Given the description of an element on the screen output the (x, y) to click on. 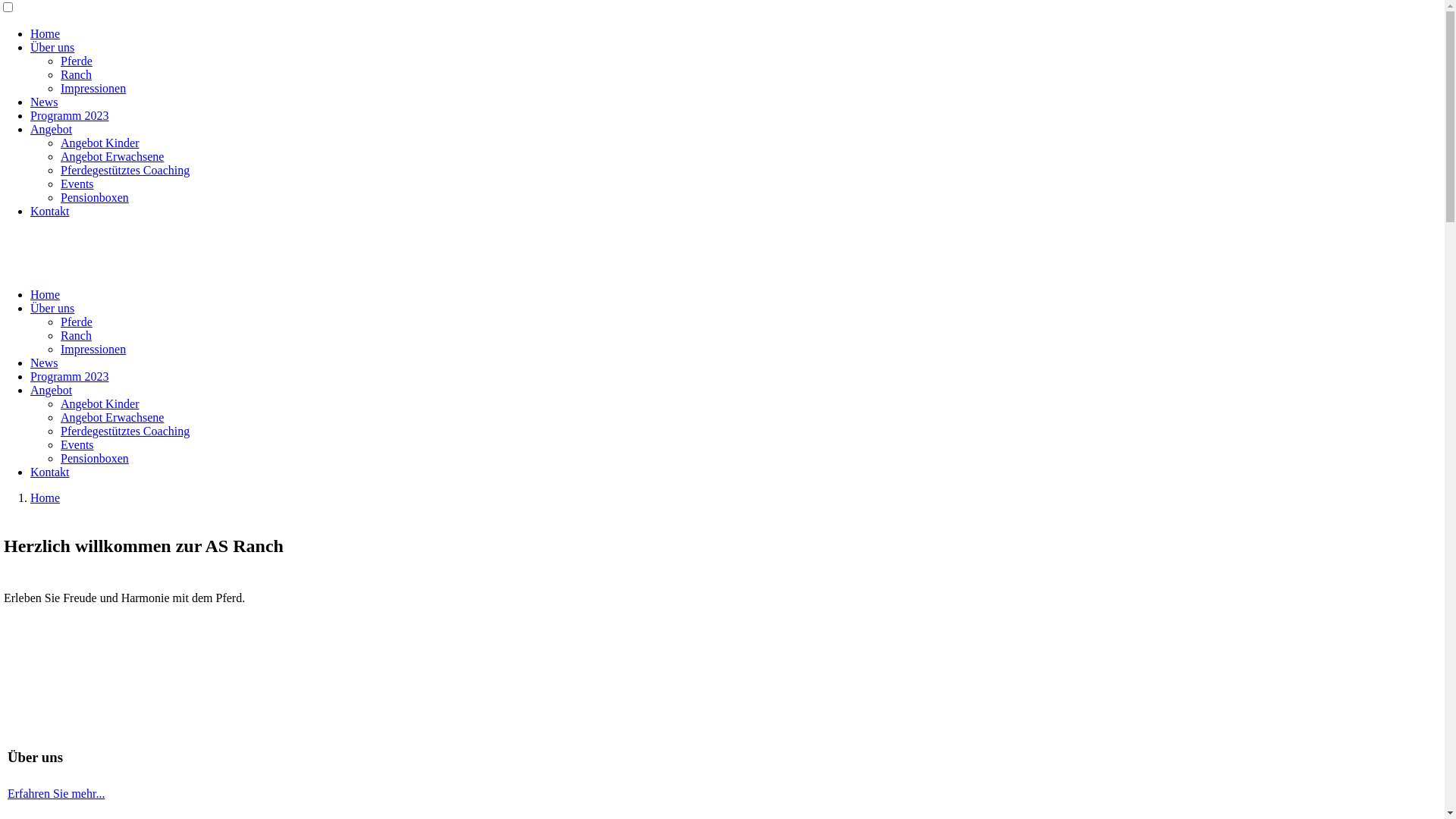
Home Element type: text (44, 497)
Pensionboxen Element type: text (94, 457)
Programm 2023 Element type: text (69, 376)
Events Element type: text (77, 444)
Angebot Kinder Element type: text (99, 403)
Angebot Element type: text (51, 128)
Programm 2023 Element type: text (69, 115)
Home Element type: text (44, 33)
News Element type: text (43, 101)
Impressionen Element type: text (92, 348)
Angebot Erwachsene Element type: text (111, 156)
News Element type: text (43, 362)
Angebot Erwachsene Element type: text (111, 417)
Ranch Element type: text (75, 335)
Angebot Kinder Element type: text (99, 142)
Events Element type: text (77, 183)
Angebot Element type: text (51, 389)
Kontakt Element type: text (49, 210)
Pensionboxen Element type: text (94, 197)
Home Element type: text (44, 294)
Erfahren Sie mehr... Element type: text (55, 793)
Ranch Element type: text (75, 74)
Pferde Element type: text (76, 60)
Pferde Element type: text (76, 321)
Kontakt Element type: text (49, 471)
Impressionen Element type: text (92, 87)
